Given the description of an element on the screen output the (x, y) to click on. 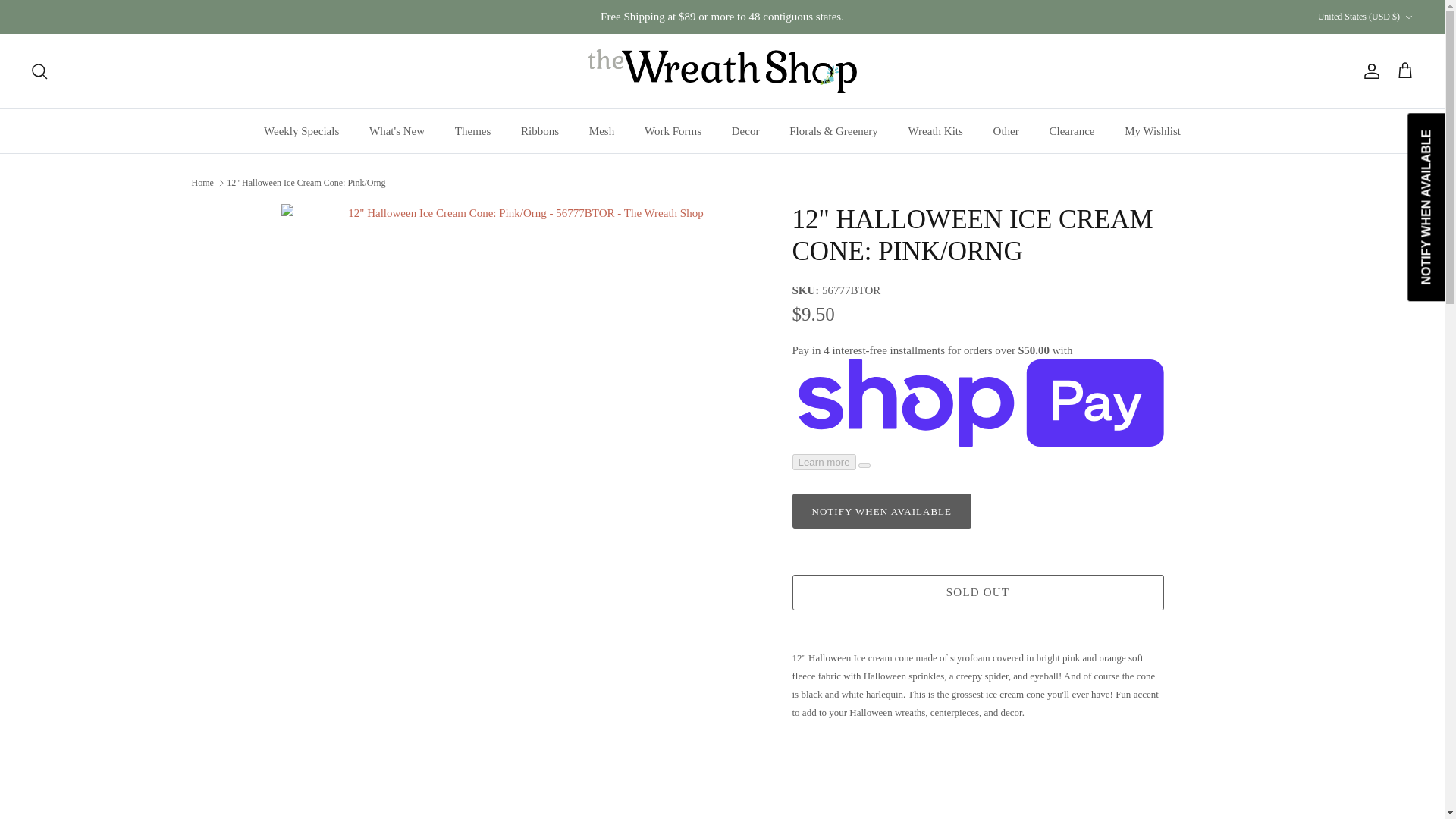
The Wreath Shop (722, 71)
NOTIFY WHEN AVAILABLE (881, 510)
Search (39, 71)
Down (1408, 17)
